Given the description of an element on the screen output the (x, y) to click on. 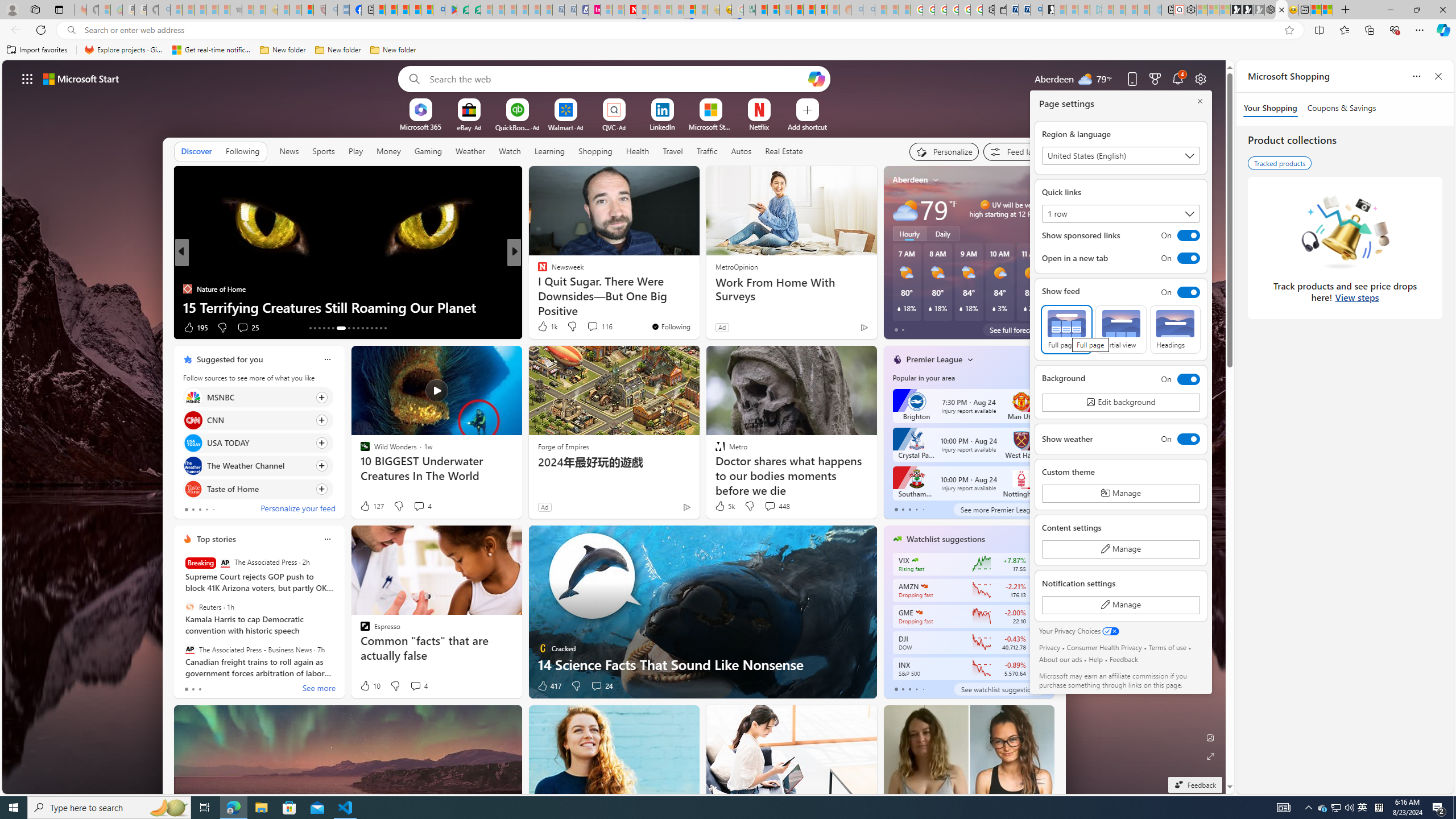
The Associated Press (224, 563)
Weather (470, 151)
331 Like (545, 327)
Microsoft Start Gaming (1047, 9)
Click to Edit Background (1120, 402)
The Weather Channel (192, 466)
MSNBC - MSN (761, 9)
View comments 307 Comment (588, 327)
